Given the description of an element on the screen output the (x, y) to click on. 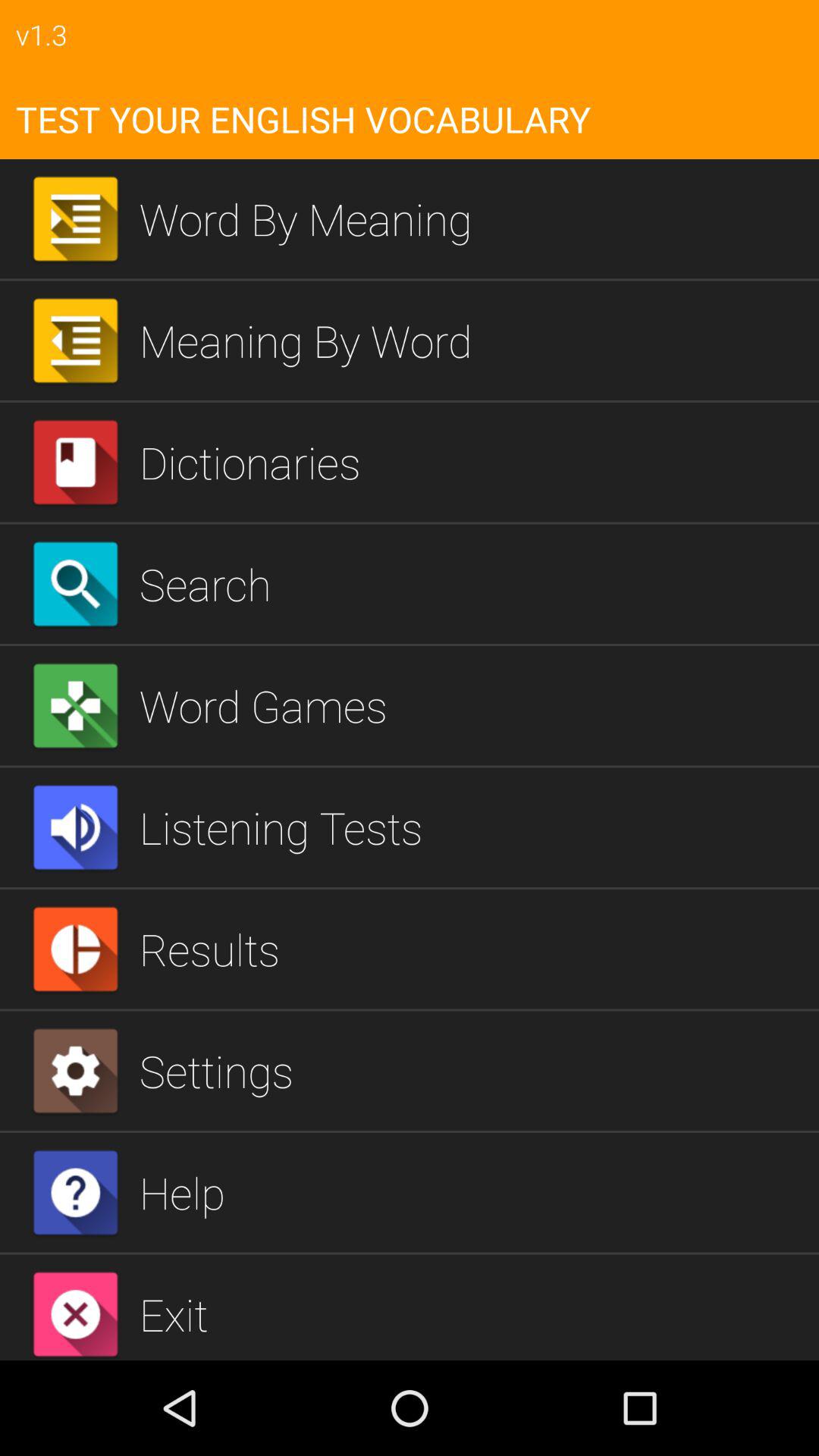
choose icon below help (473, 1313)
